Given the description of an element on the screen output the (x, y) to click on. 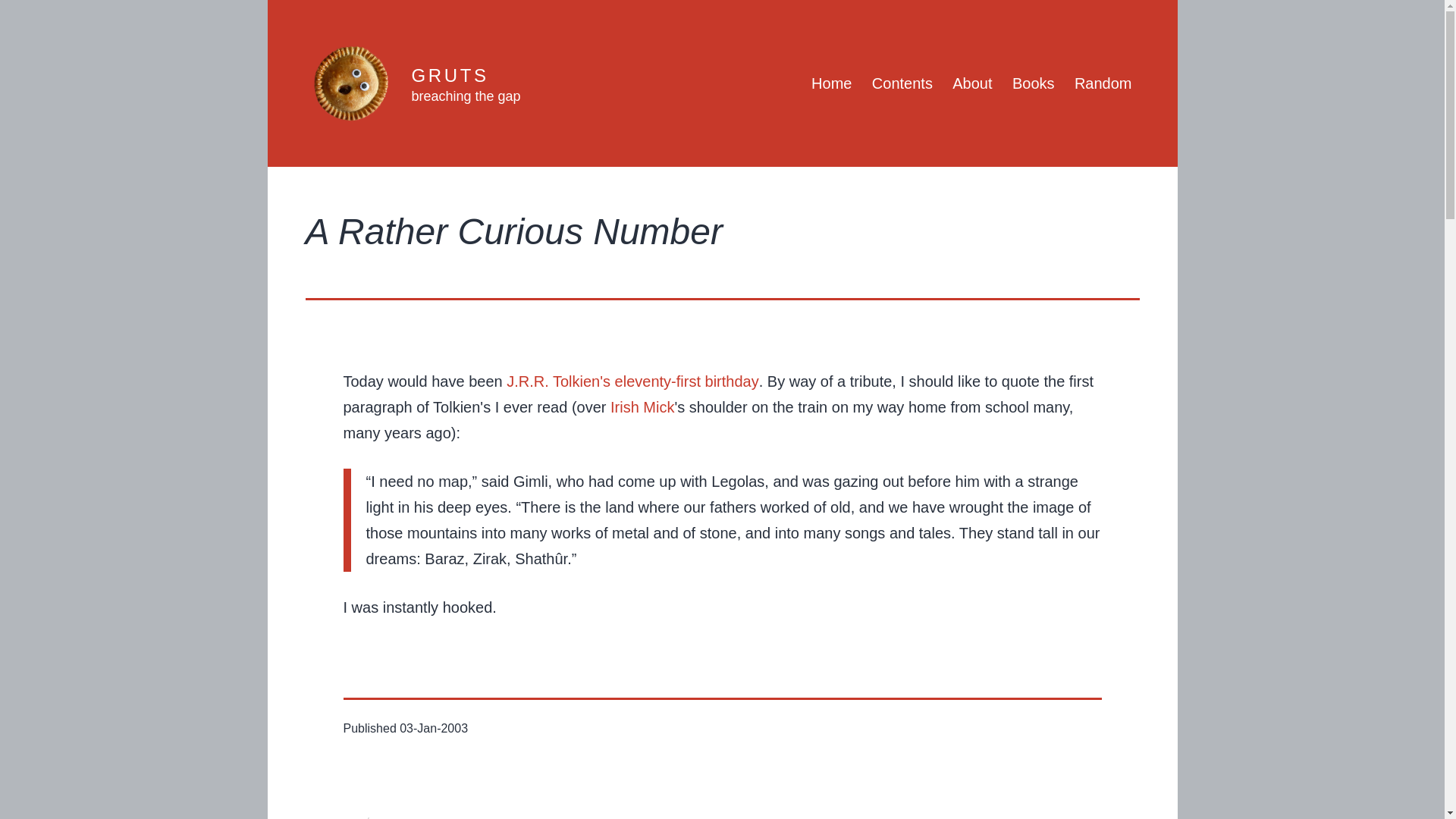
J.R.R. Tolkien's eleventy-first birthday (632, 381)
Books (1033, 82)
Random (1102, 82)
Contents (901, 82)
Gruts home page (831, 82)
Random taglines (464, 96)
breaching the gap (464, 96)
Irish Mick (642, 406)
About (972, 82)
About Irish Mick (642, 406)
Book reviews (1033, 82)
Home (831, 82)
Random Gruts post (1102, 82)
Guardian: Tolkien catches up with his hobbit (632, 381)
GRUTS (448, 75)
